Given the description of an element on the screen output the (x, y) to click on. 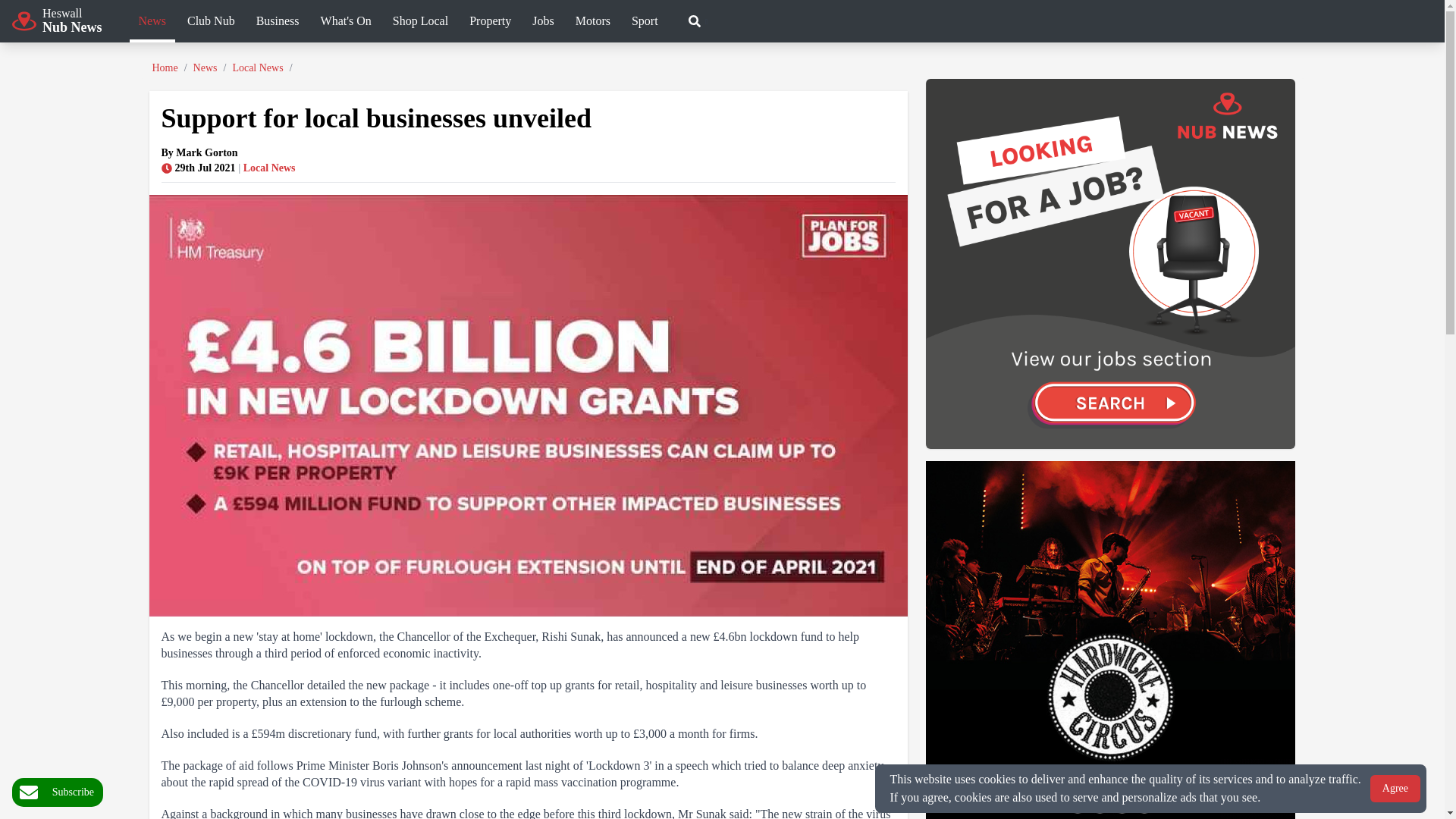
News (56, 20)
What's On (151, 22)
Jobs (345, 22)
Business (542, 22)
Property (277, 22)
Club Nub (489, 22)
Sport (210, 22)
Subscribe (644, 22)
3rd party ad content (57, 792)
Motors (1109, 640)
Shop Local (593, 22)
